Given the description of an element on the screen output the (x, y) to click on. 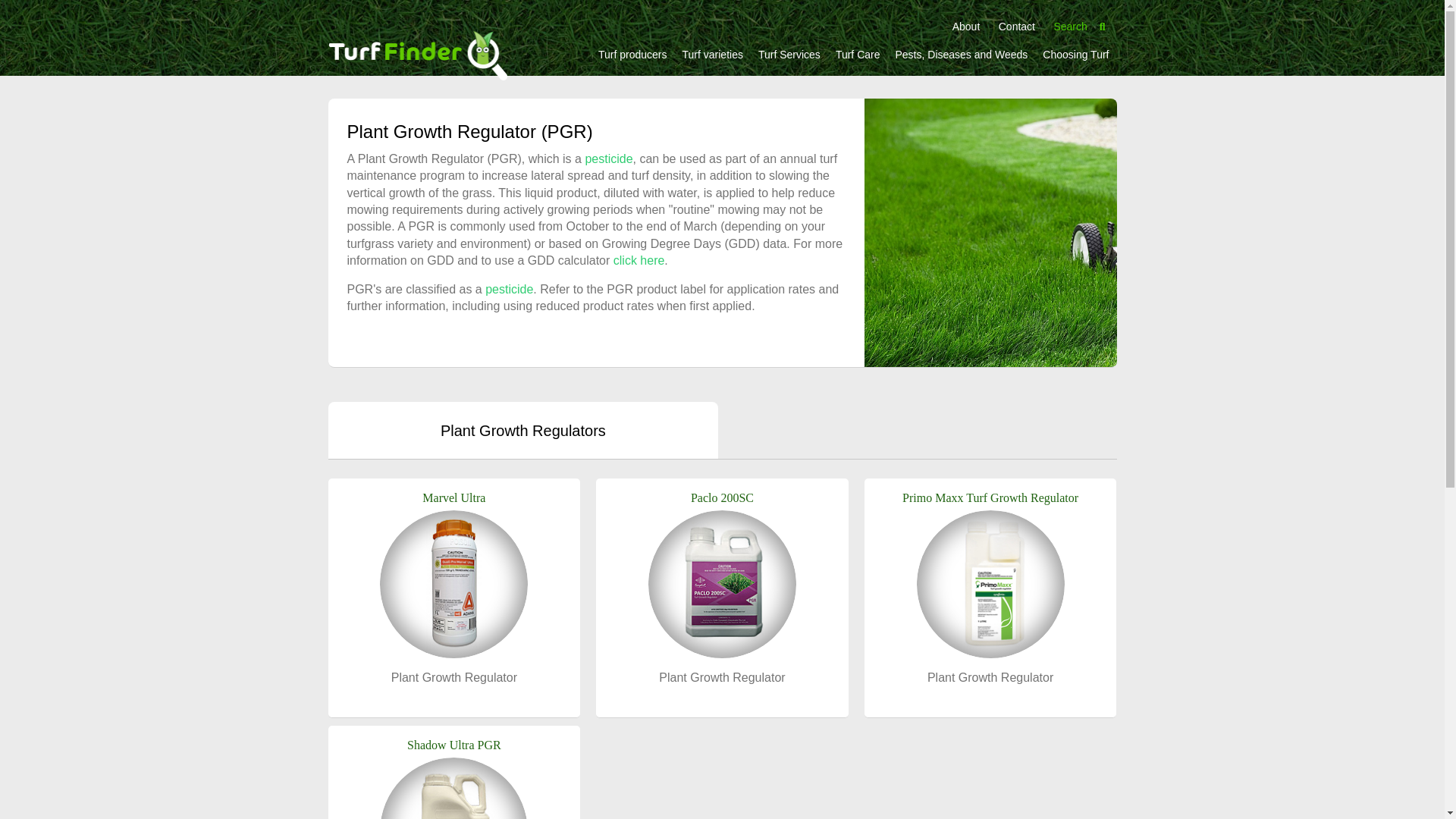
Turf Services (789, 54)
Contact (1016, 26)
Turf producers (633, 54)
Pests, Diseases and Weeds (960, 54)
pesticide (508, 288)
Turf varieties (713, 54)
Choosing Turf (1075, 54)
Turf Care (858, 54)
About (966, 26)
pesticide (608, 158)
click here (638, 259)
